Given the description of an element on the screen output the (x, y) to click on. 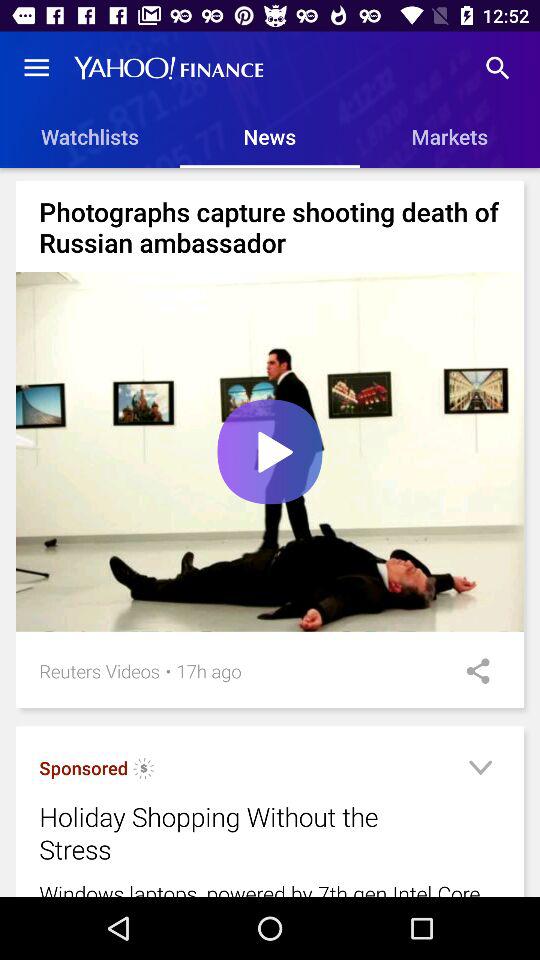
open the icon below the reuters videos (83, 767)
